Given the description of an element on the screen output the (x, y) to click on. 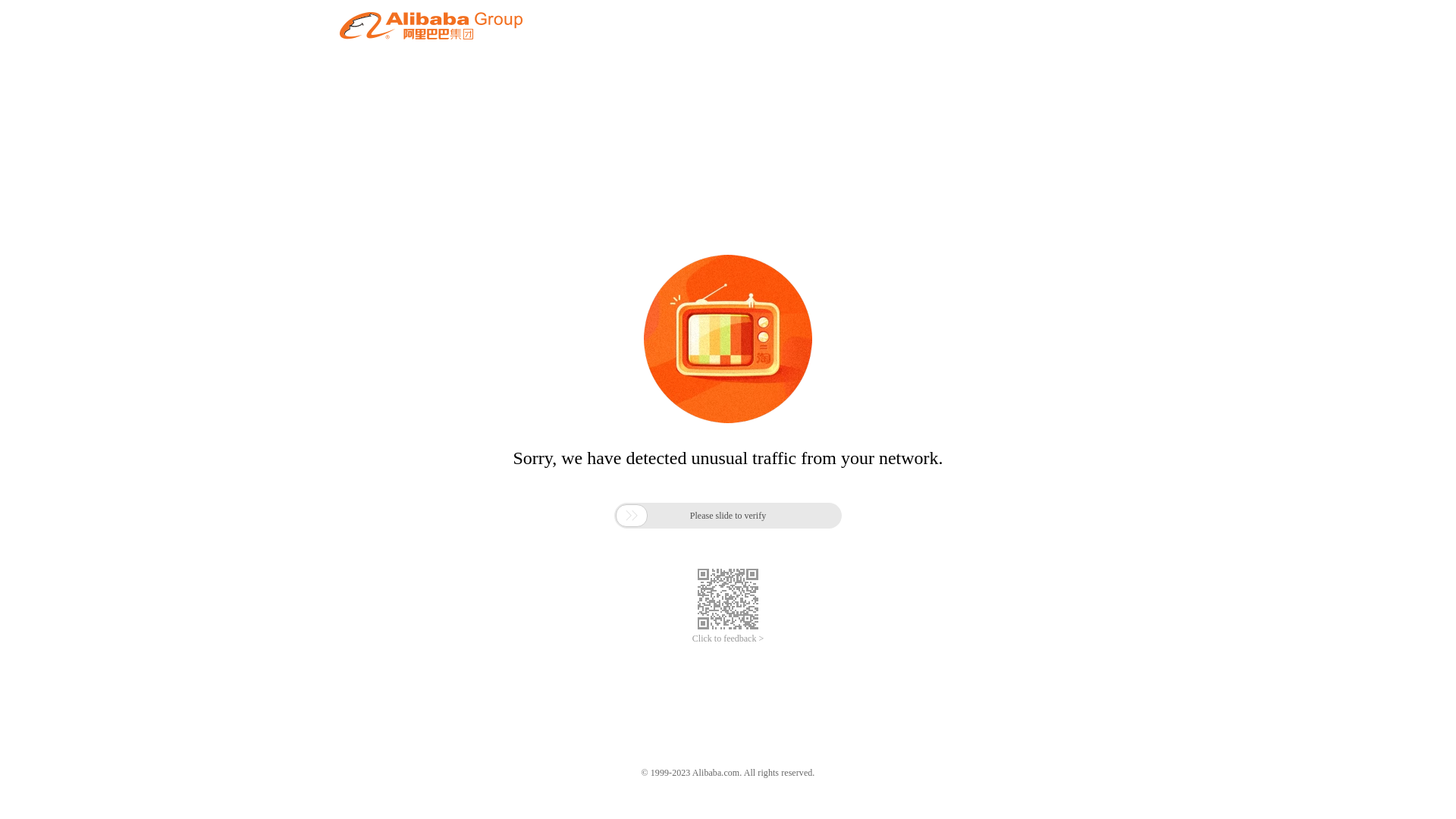
Click to feedback > Element type: text (727, 638)
